Given the description of an element on the screen output the (x, y) to click on. 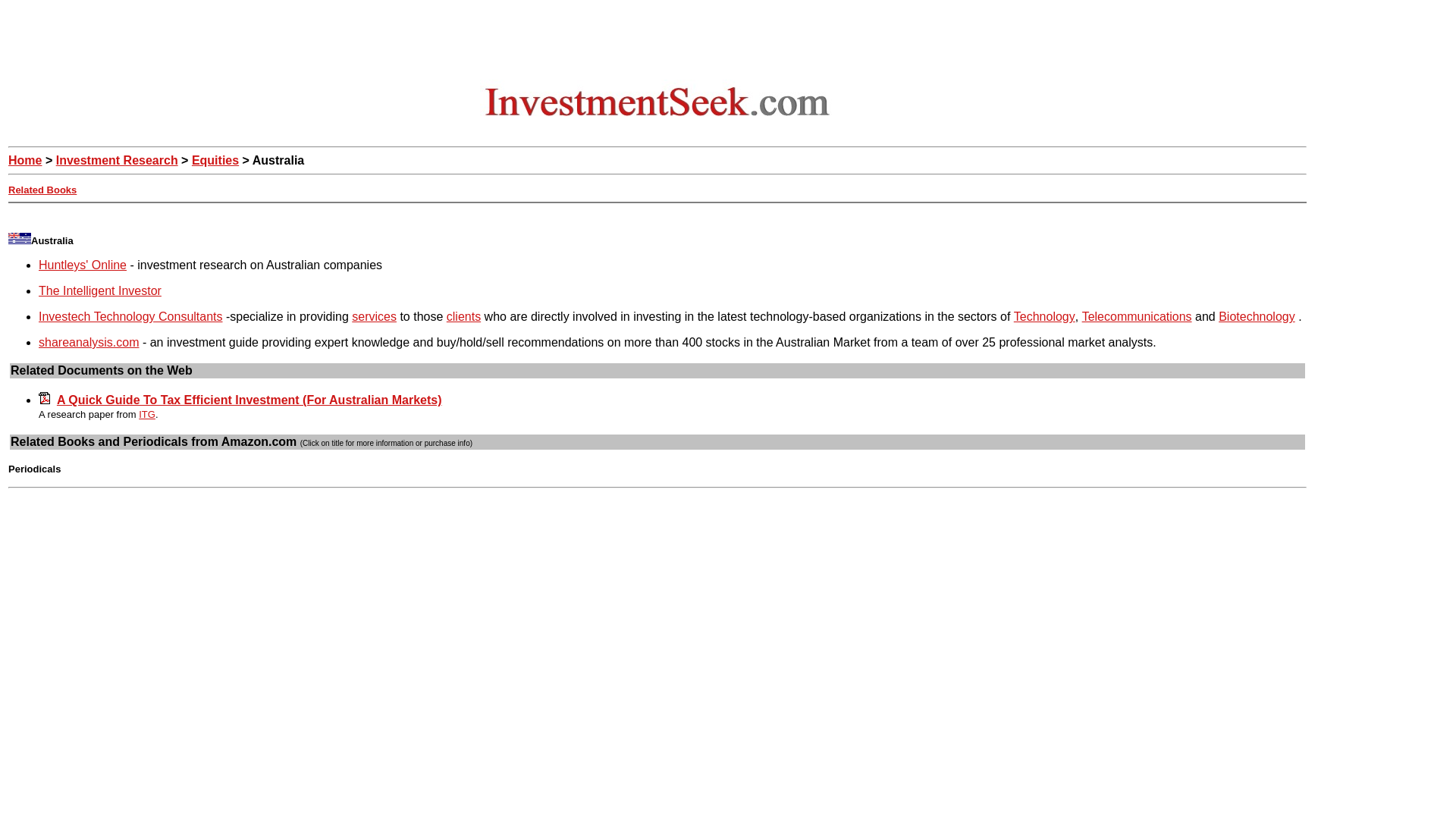
clients (463, 316)
Telecommunications (1136, 316)
shareanalysis.com (89, 341)
ITG (146, 414)
services (374, 316)
Equities (215, 160)
The Intelligent Investor (100, 290)
Biotechnology (1256, 316)
Huntleys' Online (82, 264)
Home (25, 160)
Advertisement (284, 214)
Related Books (42, 189)
Investment Research (116, 160)
Advertisement (657, 42)
Technology (1044, 316)
